Given the description of an element on the screen output the (x, y) to click on. 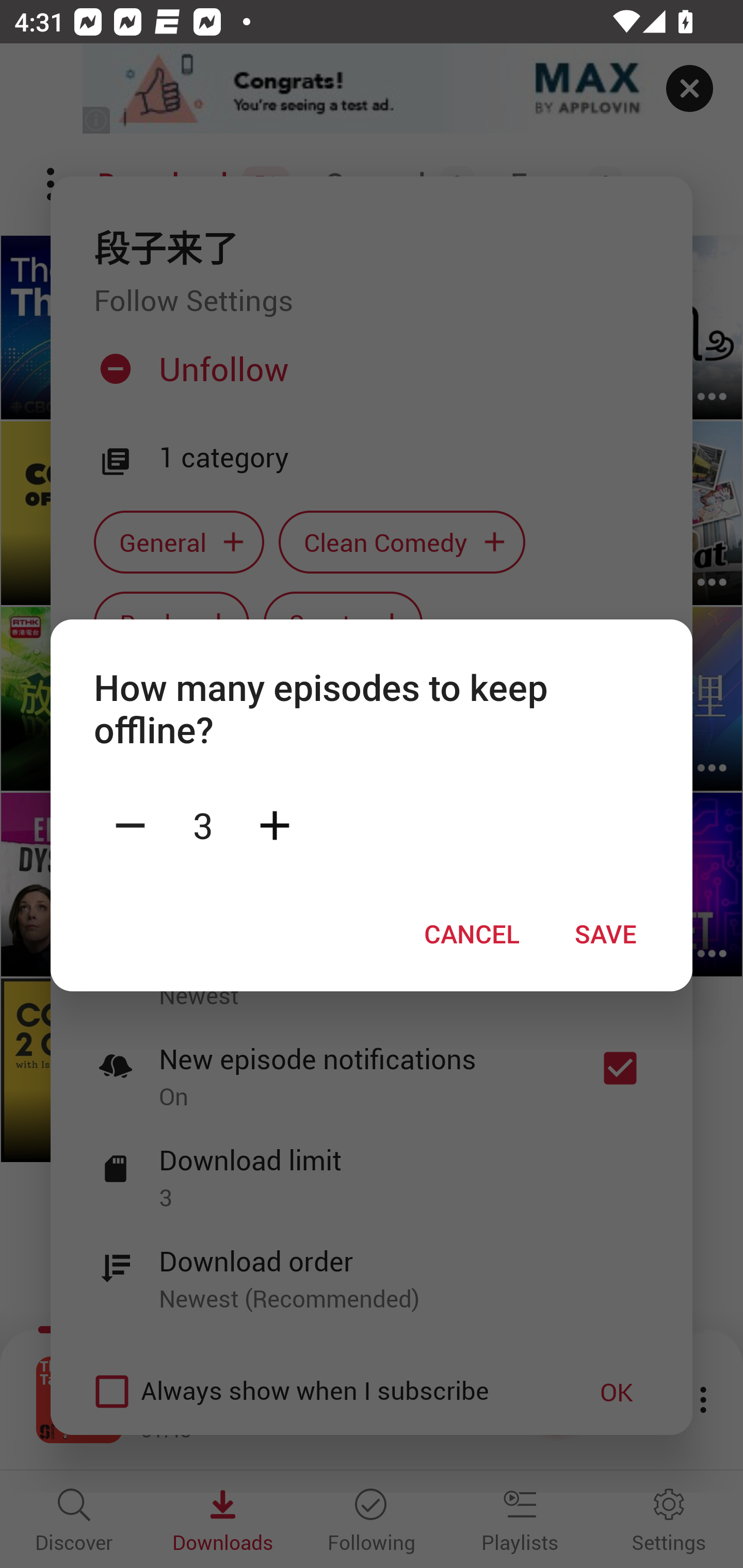
Minus (129, 824)
Plus (274, 824)
CANCEL (470, 933)
SAVE (605, 933)
